Given the description of an element on the screen output the (x, y) to click on. 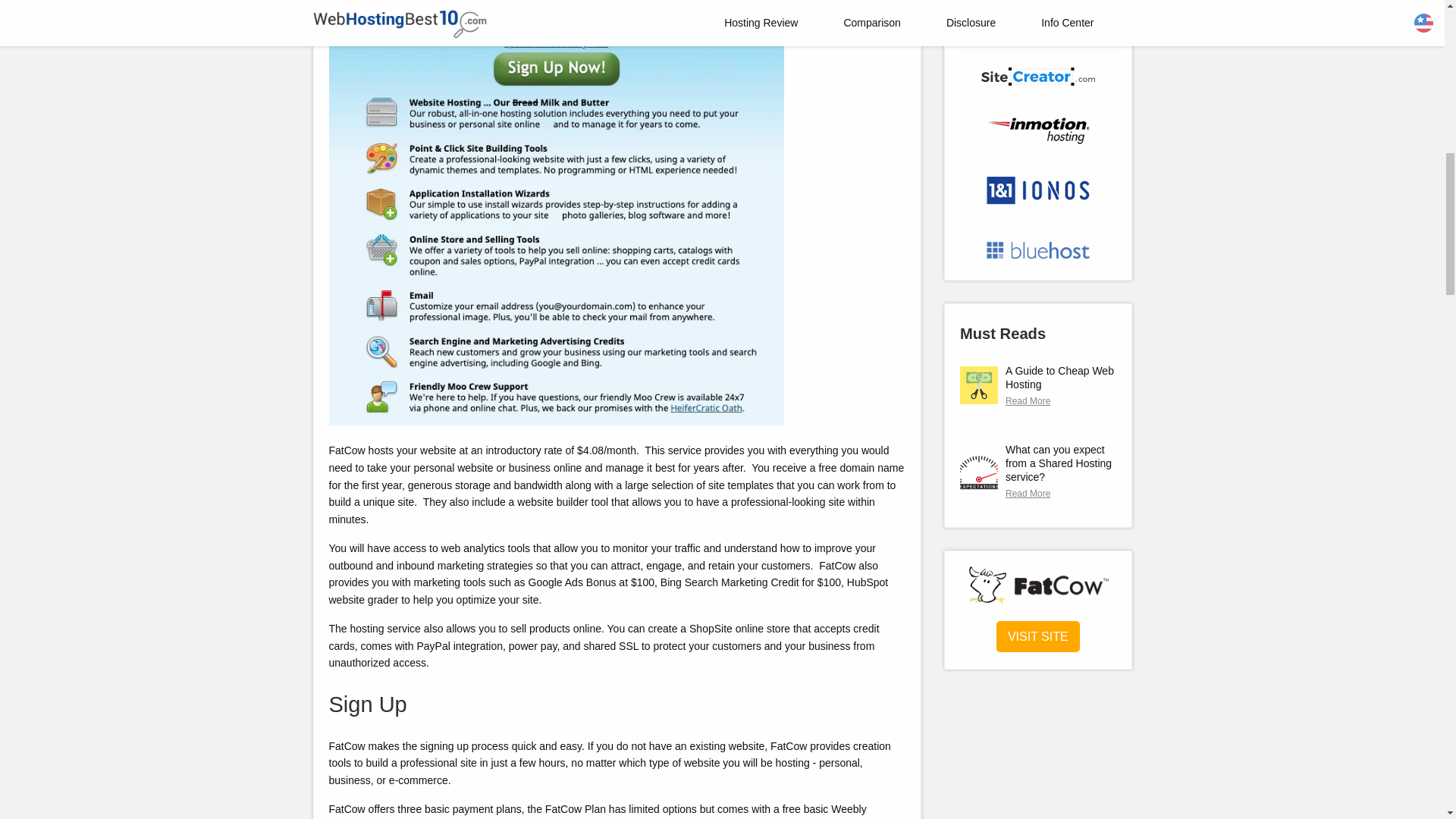
VISIT SITE (1037, 636)
Read More (1061, 400)
Read More (1061, 493)
